Given the description of an element on the screen output the (x, y) to click on. 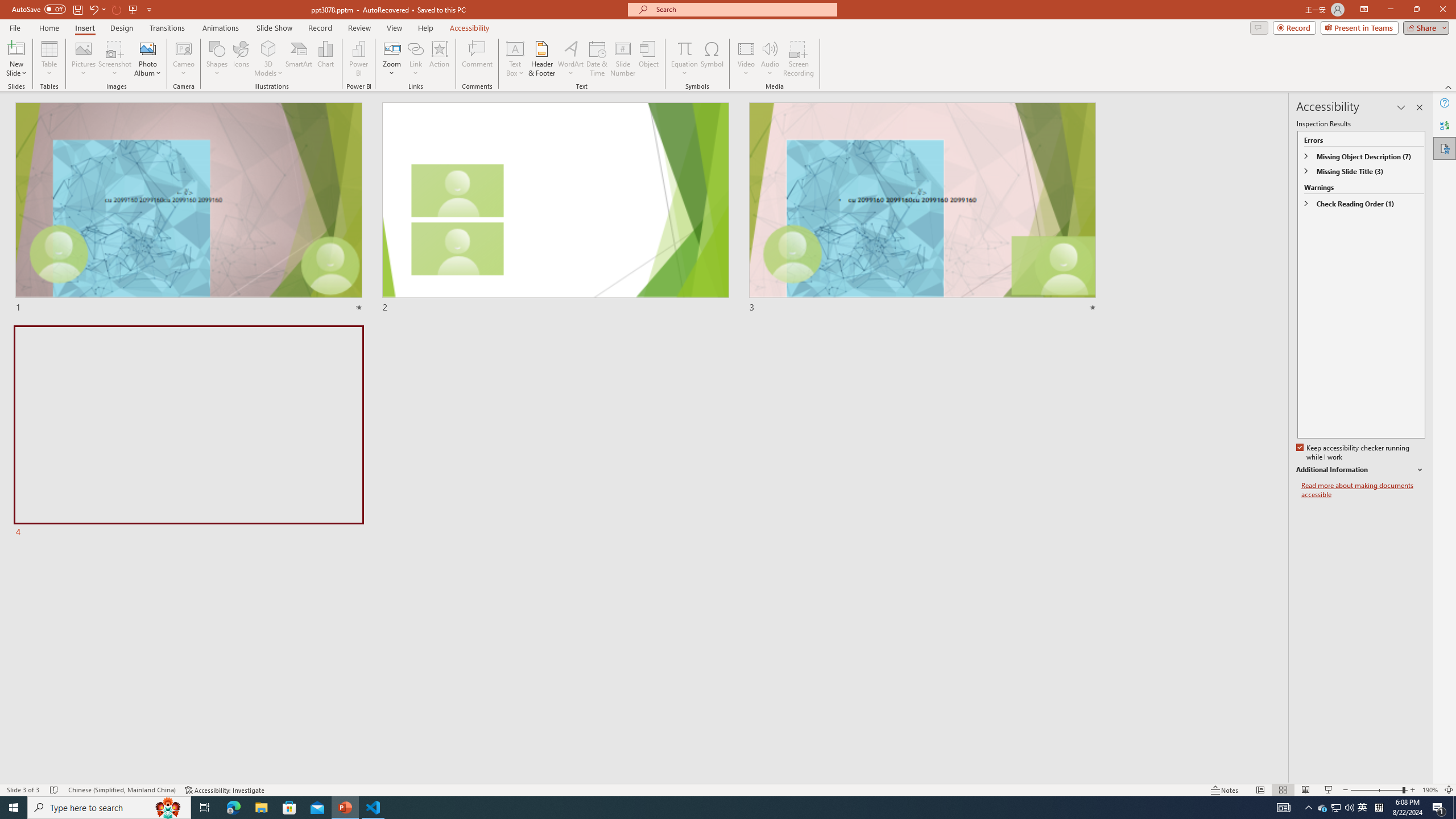
Draw Horizontal Text Box (515, 48)
Date & Time... (596, 58)
Action (439, 58)
Link (415, 58)
